Given the description of an element on the screen output the (x, y) to click on. 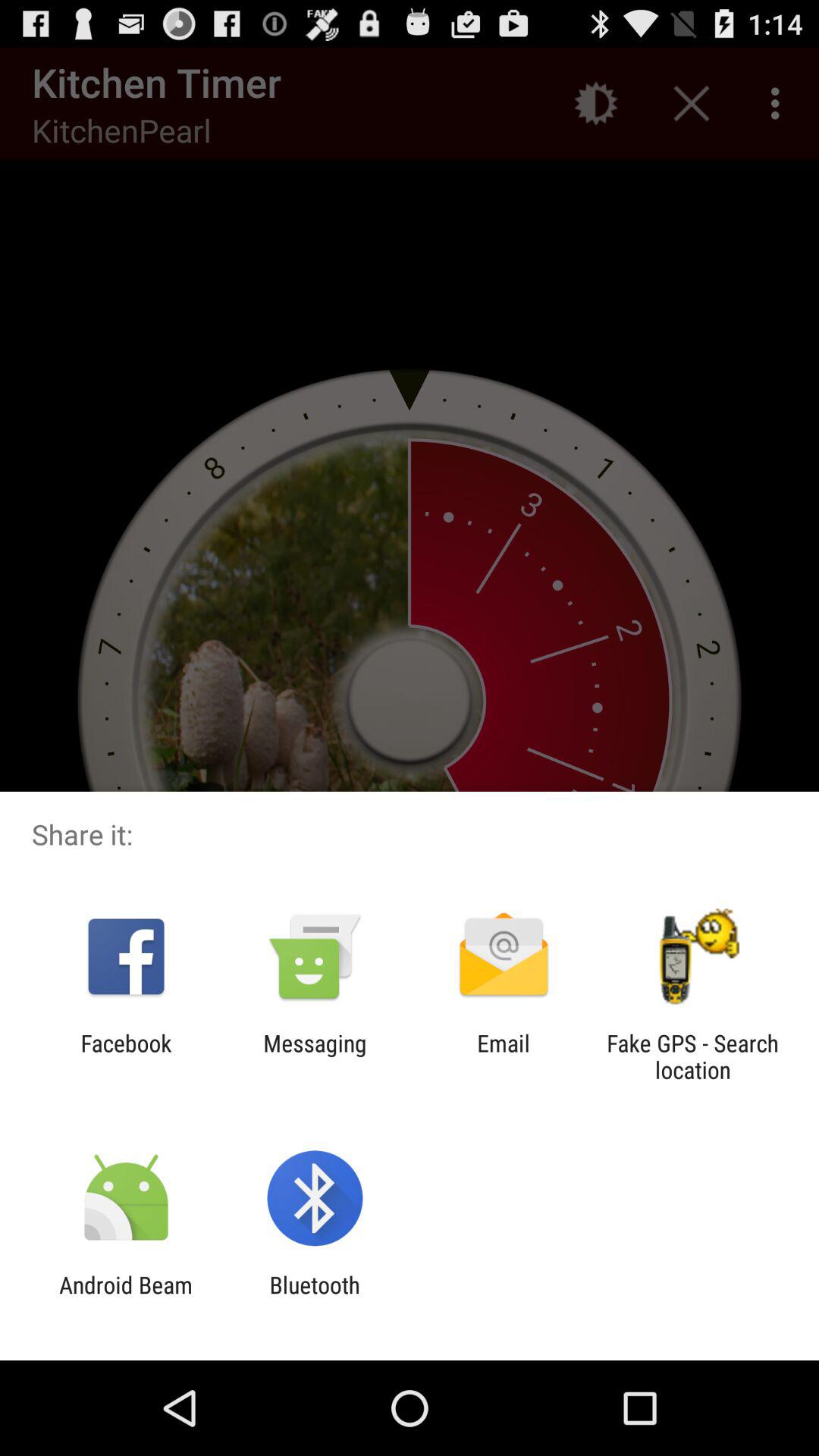
scroll to the bluetooth icon (314, 1298)
